Given the description of an element on the screen output the (x, y) to click on. 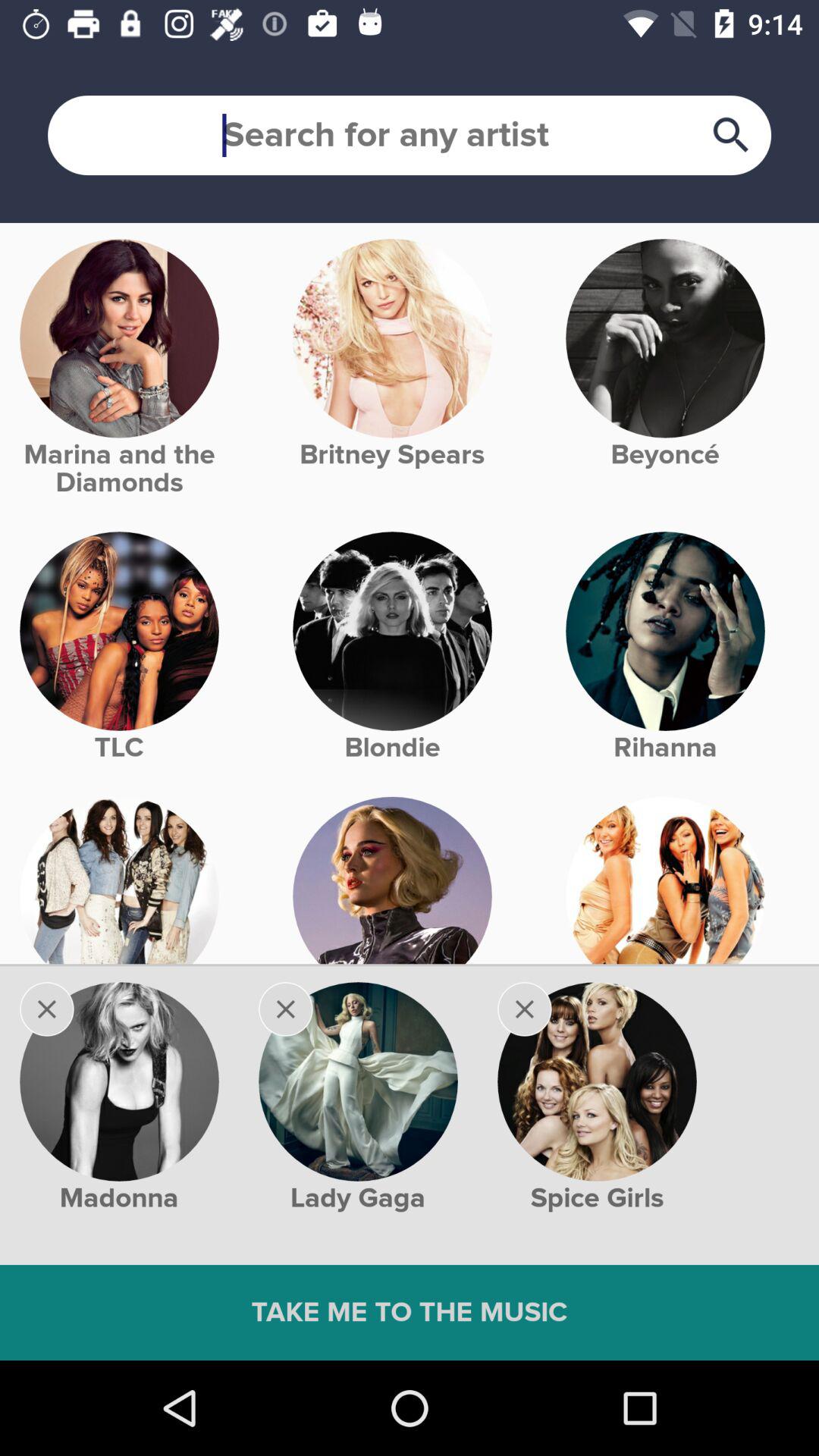
search for any artist (409, 135)
